Given the description of an element on the screen output the (x, y) to click on. 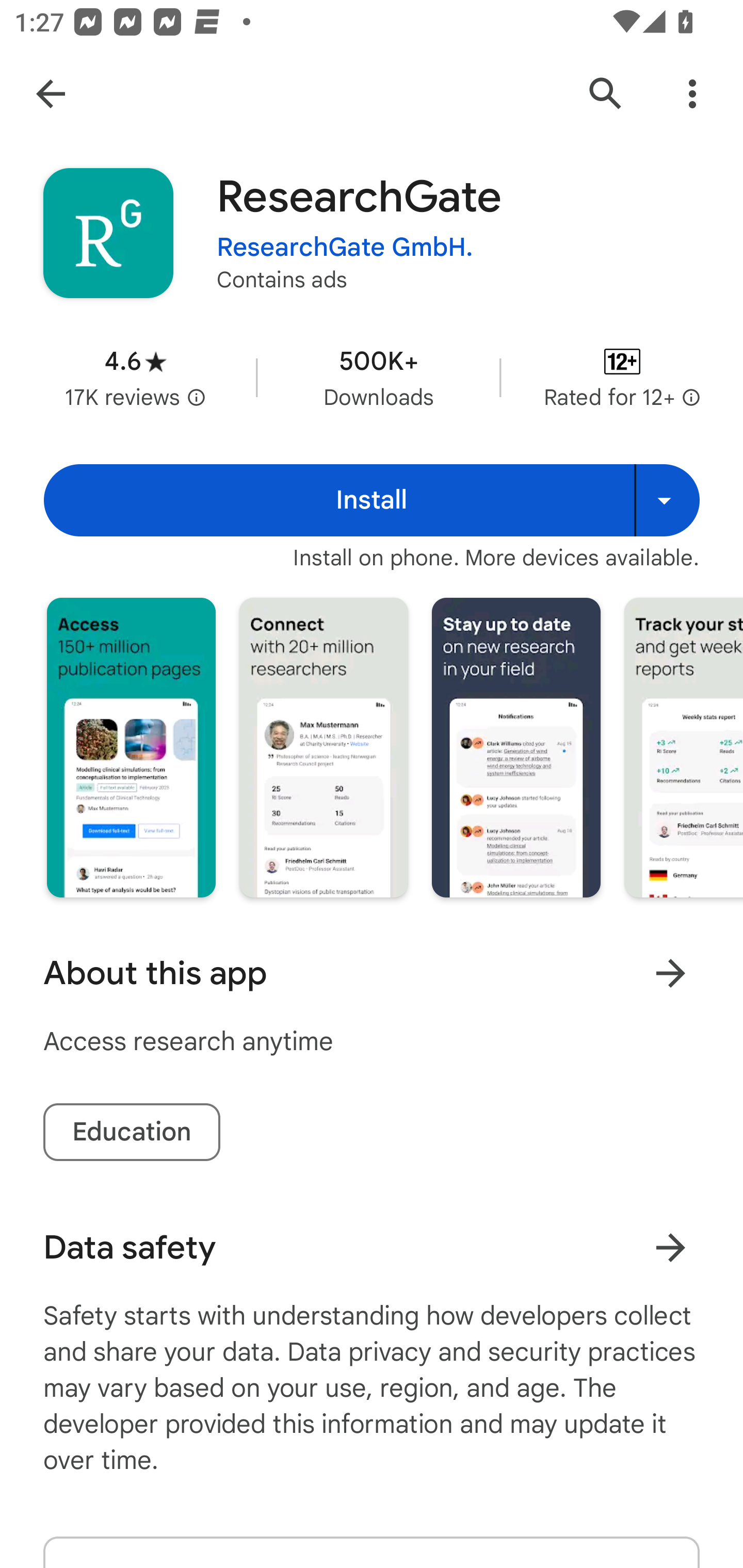
Navigate up (50, 93)
Search Google Play (605, 93)
More Options (692, 93)
ResearchGate GmbH. (344, 247)
Average rating 4.6 stars in 17 thousand reviews (135, 377)
Content rating Rated for 12+ (622, 377)
Install Install Install on more devices (371, 500)
Install on more devices (667, 500)
Screenshot "1" of "5" (130, 746)
Screenshot "2" of "5" (323, 746)
Screenshot "3" of "5" (515, 746)
Screenshot "4" of "5" (683, 746)
About this app Learn more About this app (371, 972)
Learn more About this app (670, 972)
Education tag (131, 1132)
Data safety Learn more about data safety (371, 1247)
Learn more about data safety (670, 1247)
